Given the description of an element on the screen output the (x, y) to click on. 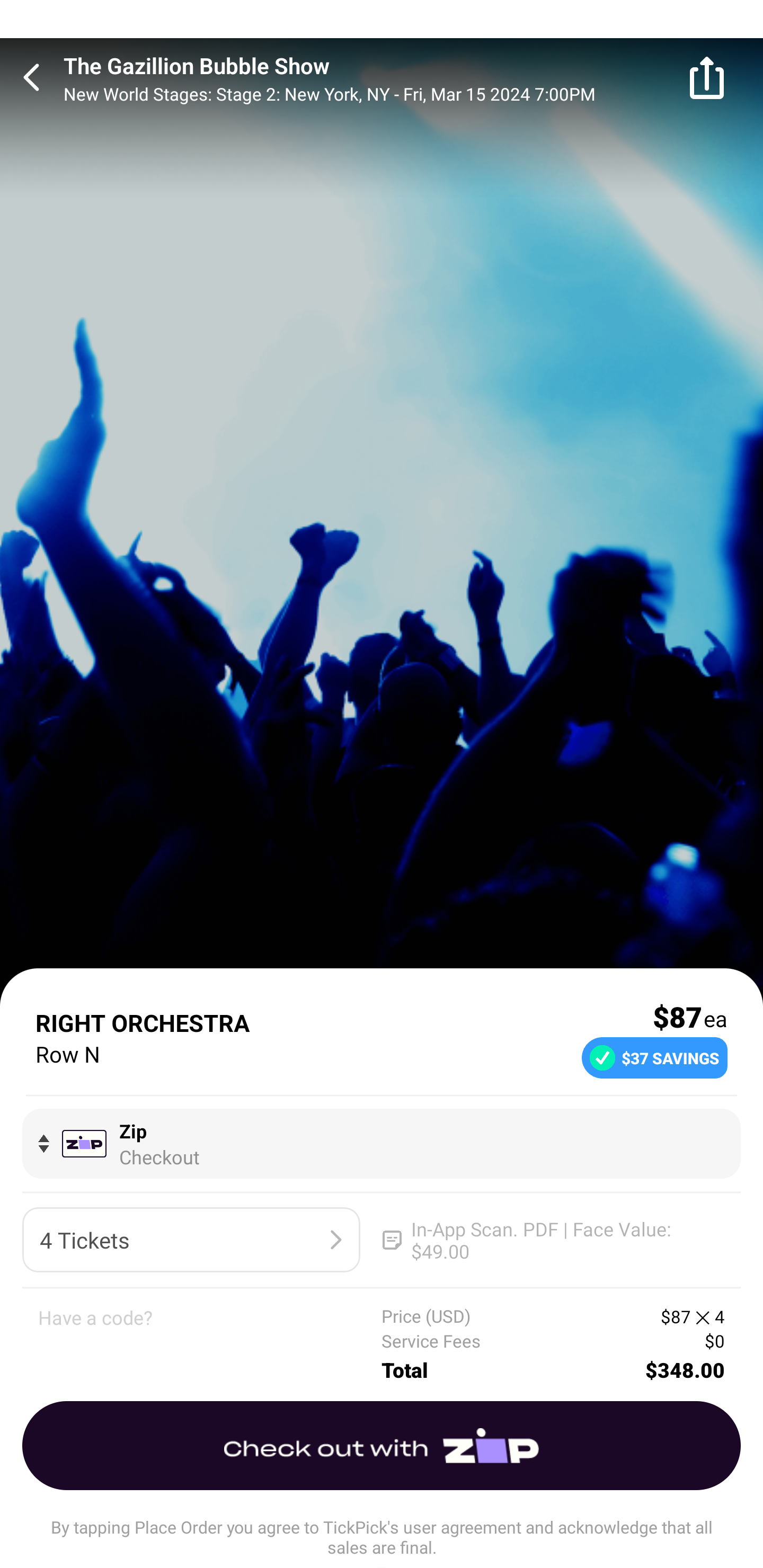
$37 SAVINGS (654, 1057)
Zip, Checkout Zip Checkout (381, 1143)
4 Tickets (191, 1239)
In-App Scan. PDF | Face Value: $49.00 (552, 1239)
Have a code? (209, 1344)
